Given the description of an element on the screen output the (x, y) to click on. 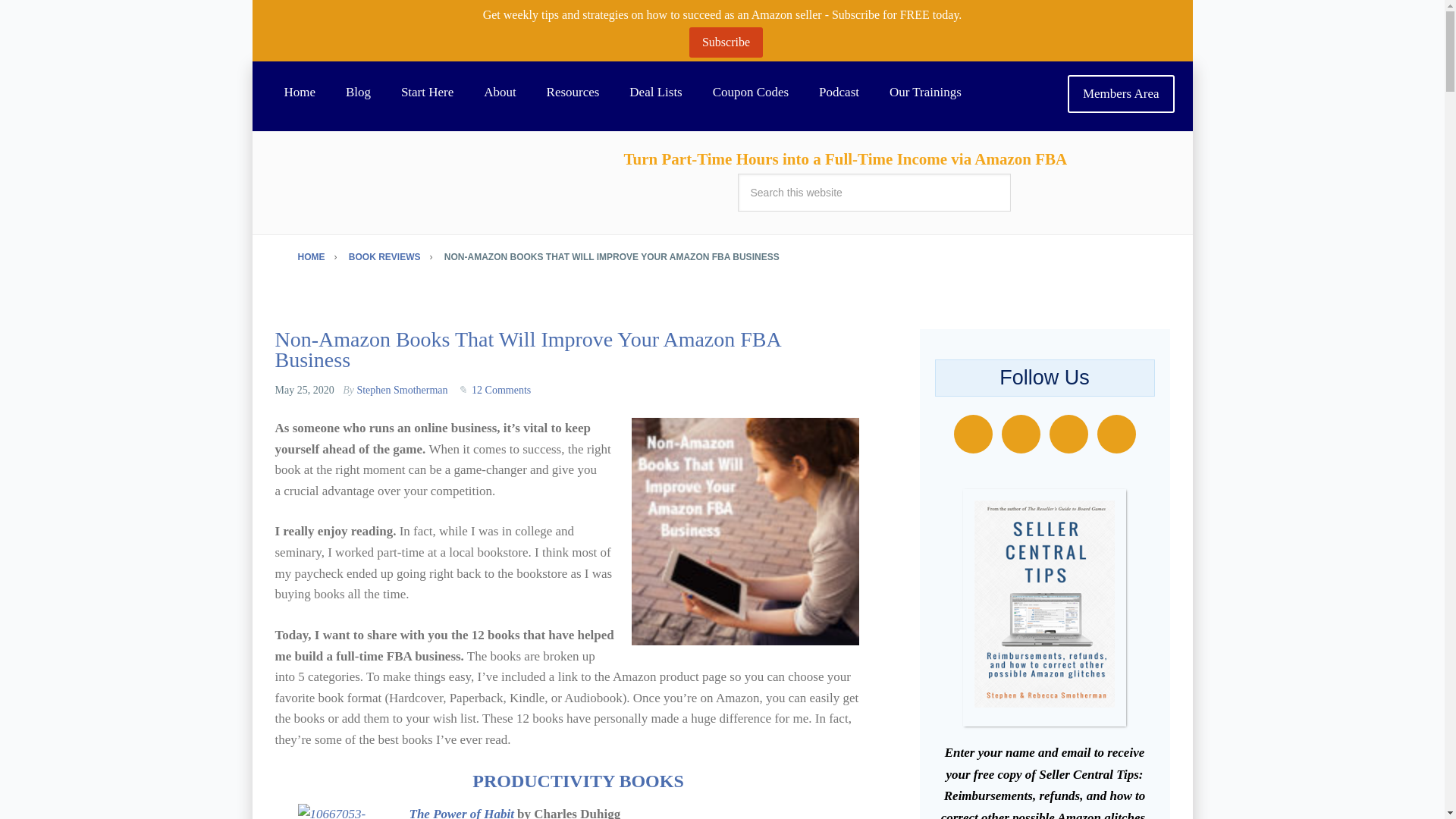
Home (299, 92)
Podcast (838, 92)
Members Area (1120, 93)
Stephen Smotherman (401, 389)
Our Trainings (925, 92)
Start Here (427, 92)
Blog (357, 92)
Deal Lists (655, 92)
Turn part-time hours into a full-time income via Amazon FBA (299, 92)
